Given the description of an element on the screen output the (x, y) to click on. 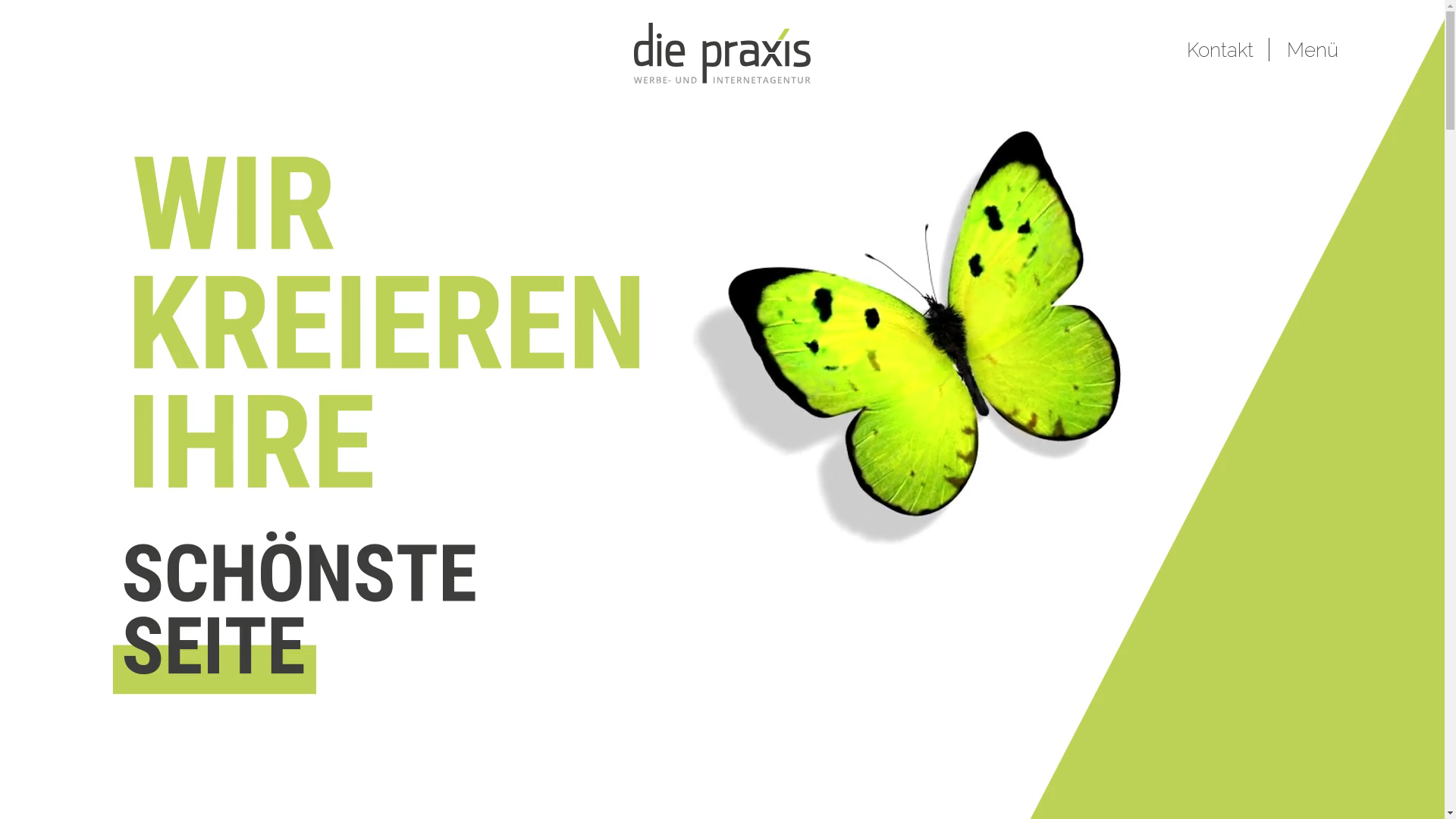
Werbeagentur - die praxis Element type: hover (721, 52)
Kontakt Element type: text (1227, 49)
